Given the description of an element on the screen output the (x, y) to click on. 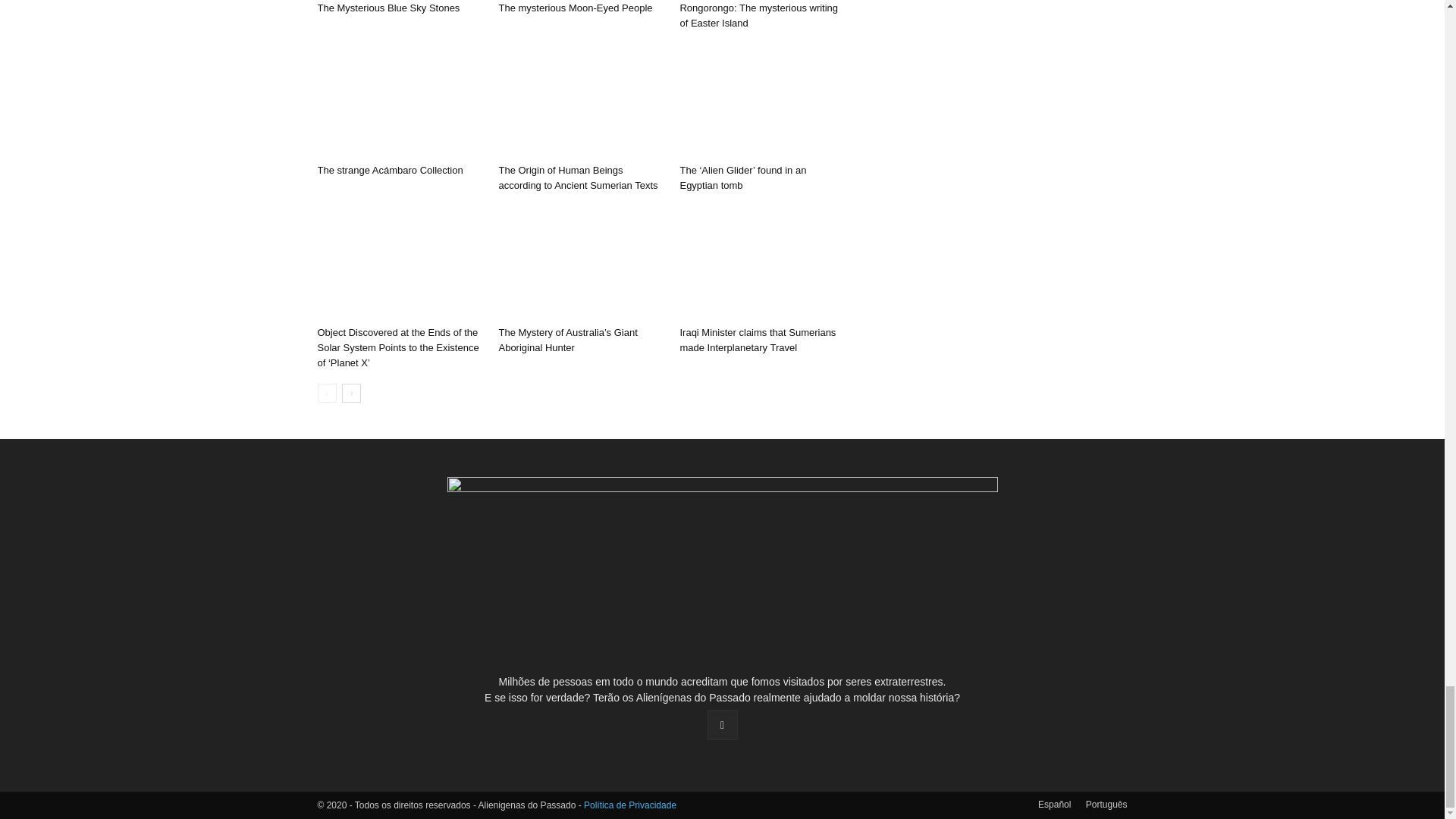
The mysterious Moon-Eyed People (574, 7)
Rongorongo: The mysterious writing of Easter Island (758, 15)
The Mysterious Blue Sky Stones (388, 7)
